Given the description of an element on the screen output the (x, y) to click on. 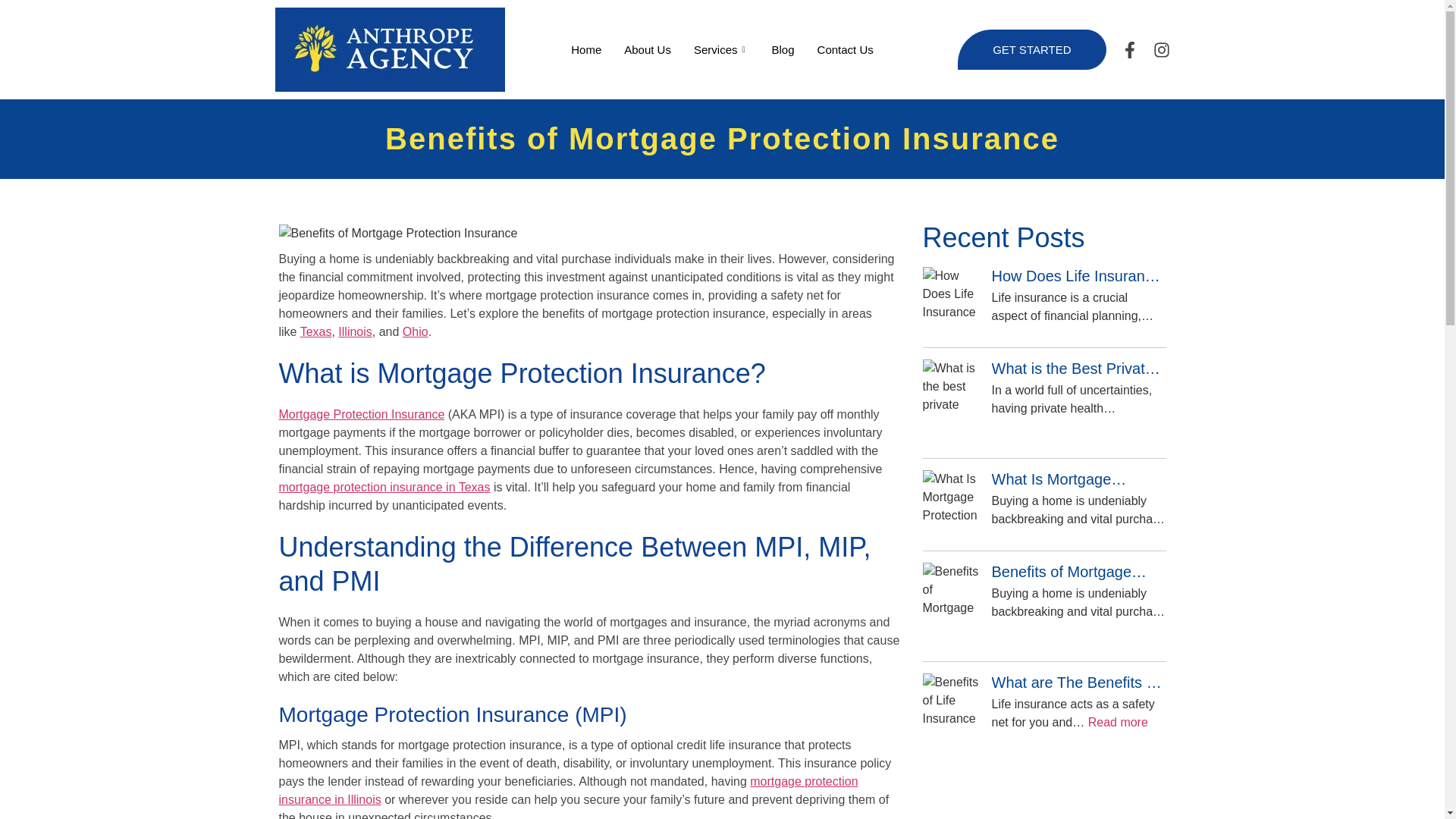
Contact Us (845, 49)
How Does Life Insurance Work? (1078, 275)
Illinois (354, 331)
Benefits of Mortgage Protection Insurance (1078, 571)
GET STARTED (1031, 49)
What Is Mortgage Protection Insurance? (1078, 479)
Services (721, 49)
Mortgage Protection Insurance (362, 413)
What is the Best Private Health Insurance? (1078, 368)
Texas (315, 331)
What are The Benefits of Life Insurance? (1078, 682)
mortgage protection insurance in Texas (384, 486)
About Us (647, 49)
Ohio (415, 331)
mortgage protection insurance in Illinois (569, 789)
